Given the description of an element on the screen output the (x, y) to click on. 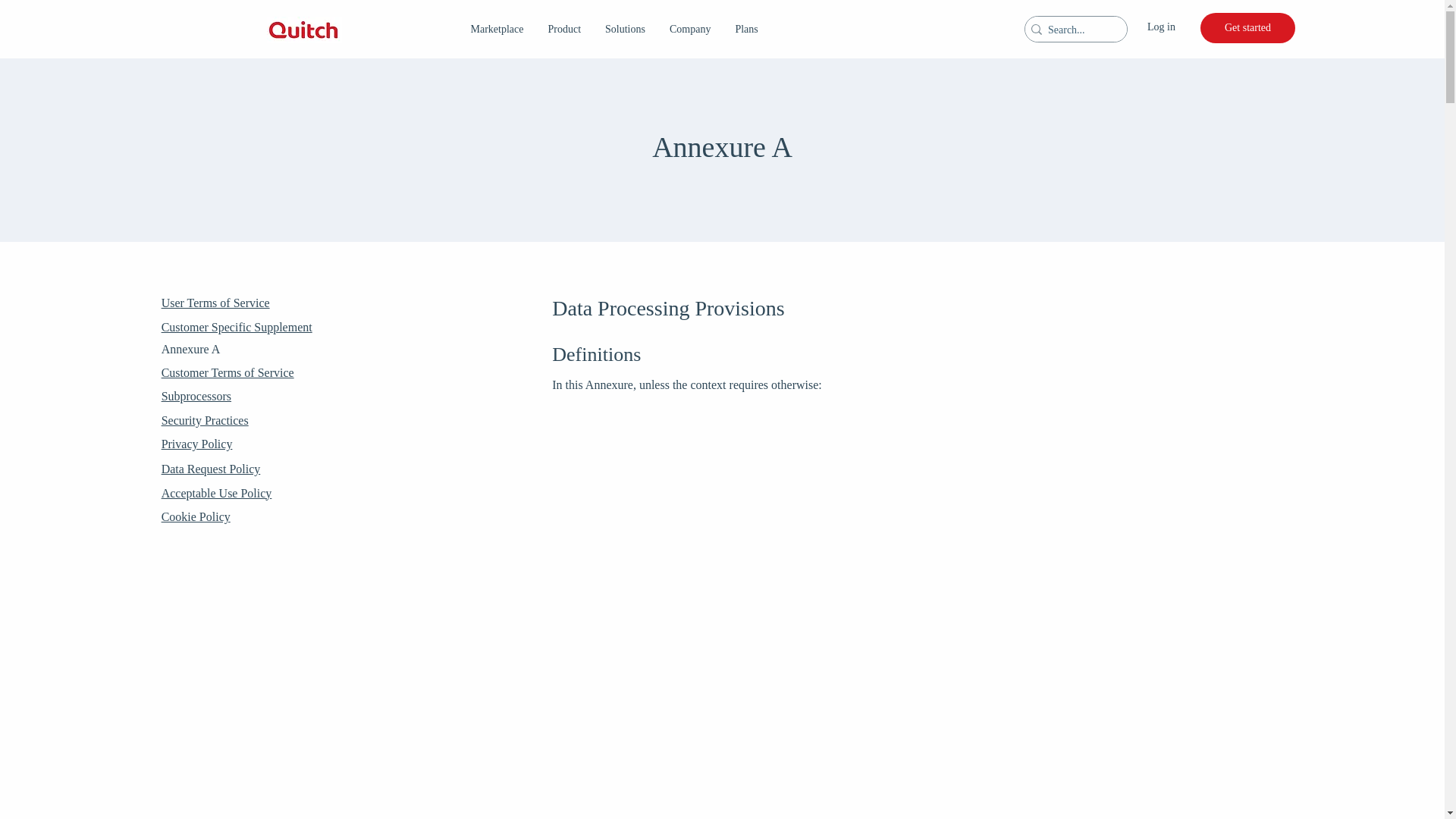
Customer Specific Supplement (237, 327)
Marketplace (496, 29)
Subprocessors (196, 395)
Annexure A (191, 349)
Data Request Policy (210, 468)
User Terms of Service (215, 302)
Customer Terms of Service (227, 372)
Log in (1167, 27)
Privacy Policy (196, 443)
Acceptable Use Policy (216, 492)
